Given the description of an element on the screen output the (x, y) to click on. 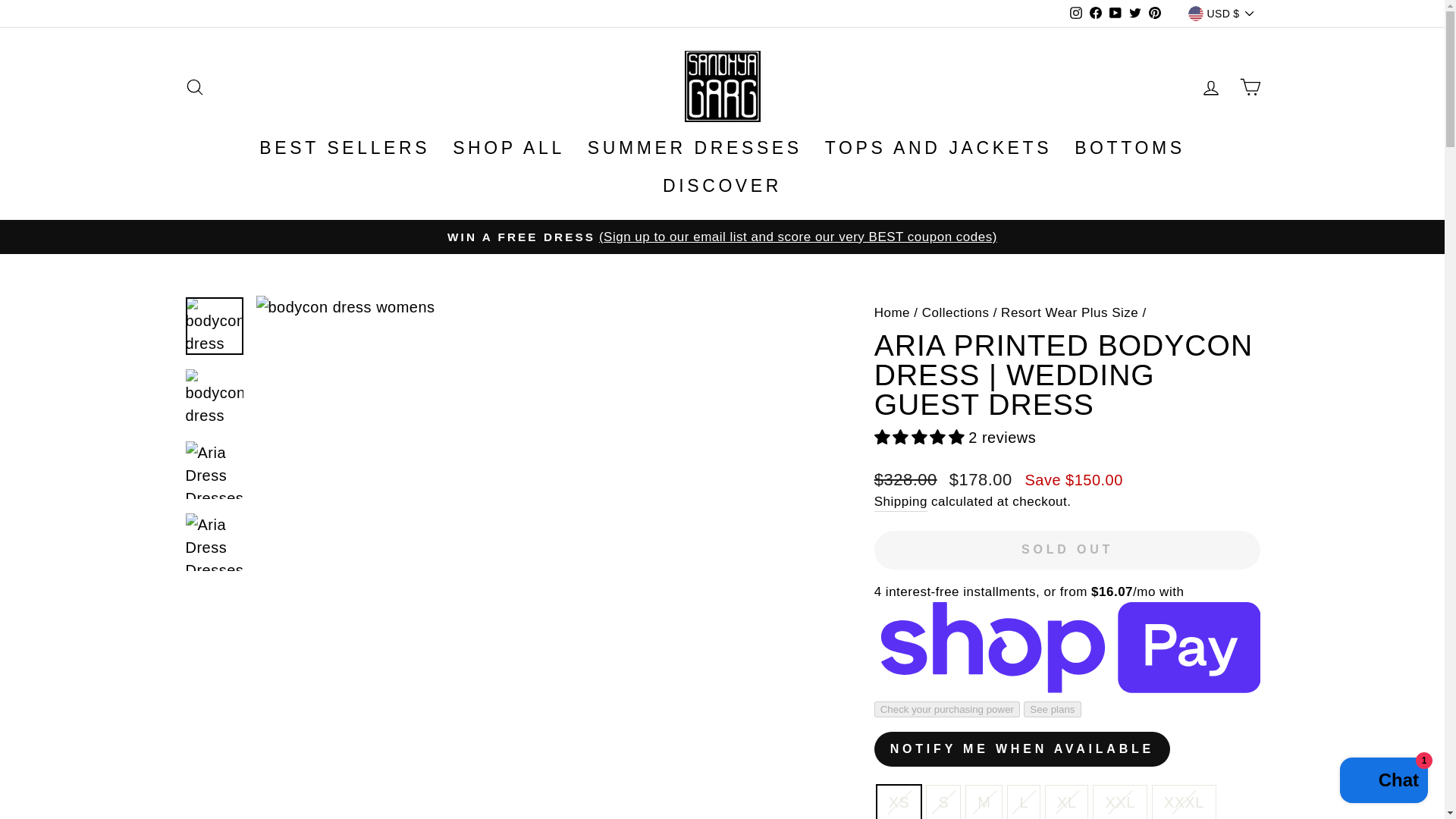
Back to the frontpage (892, 312)
